Given the description of an element on the screen output the (x, y) to click on. 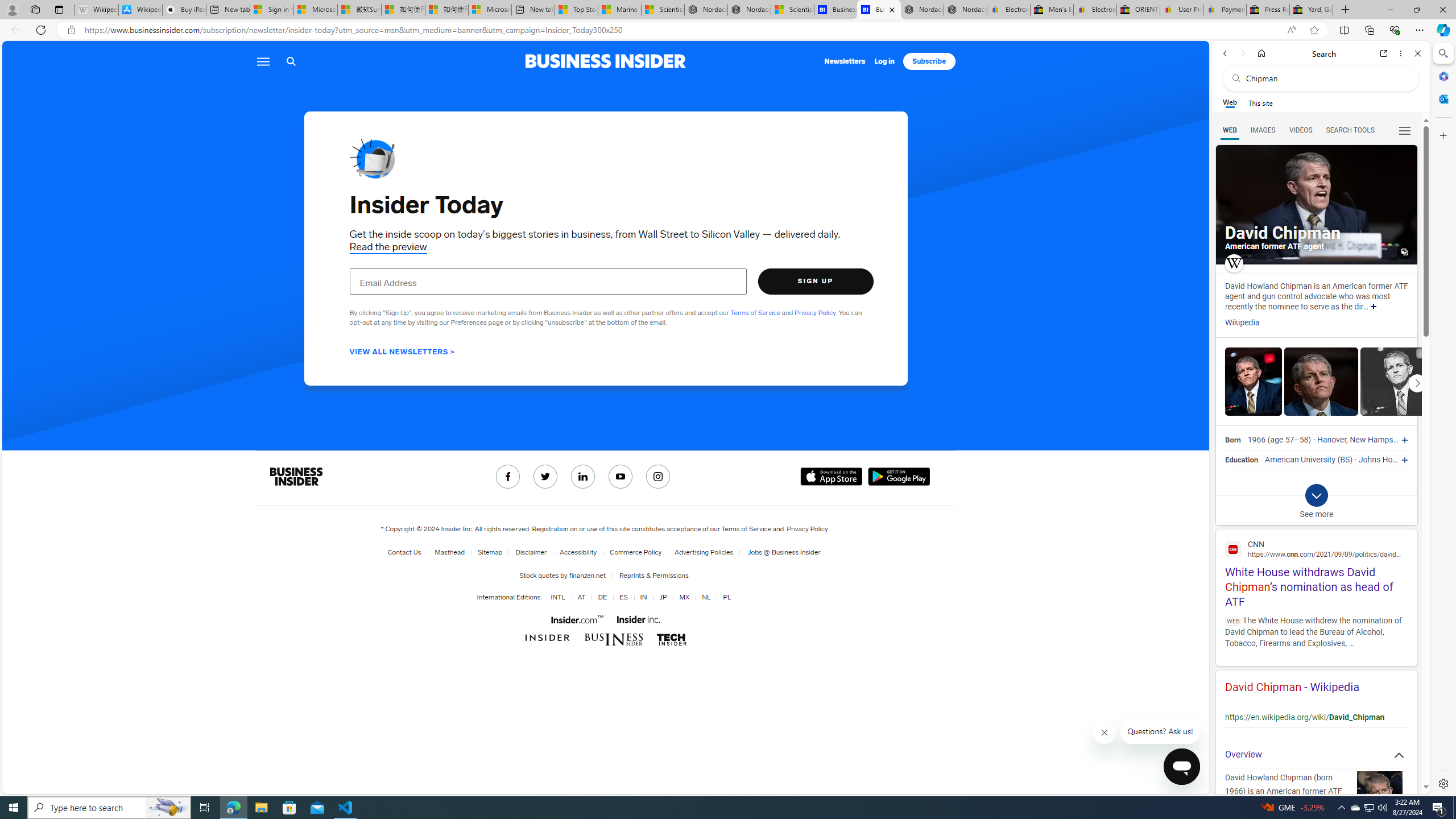
Business Insider logo (605, 60)
JP (660, 597)
